Given the description of an element on the screen output the (x, y) to click on. 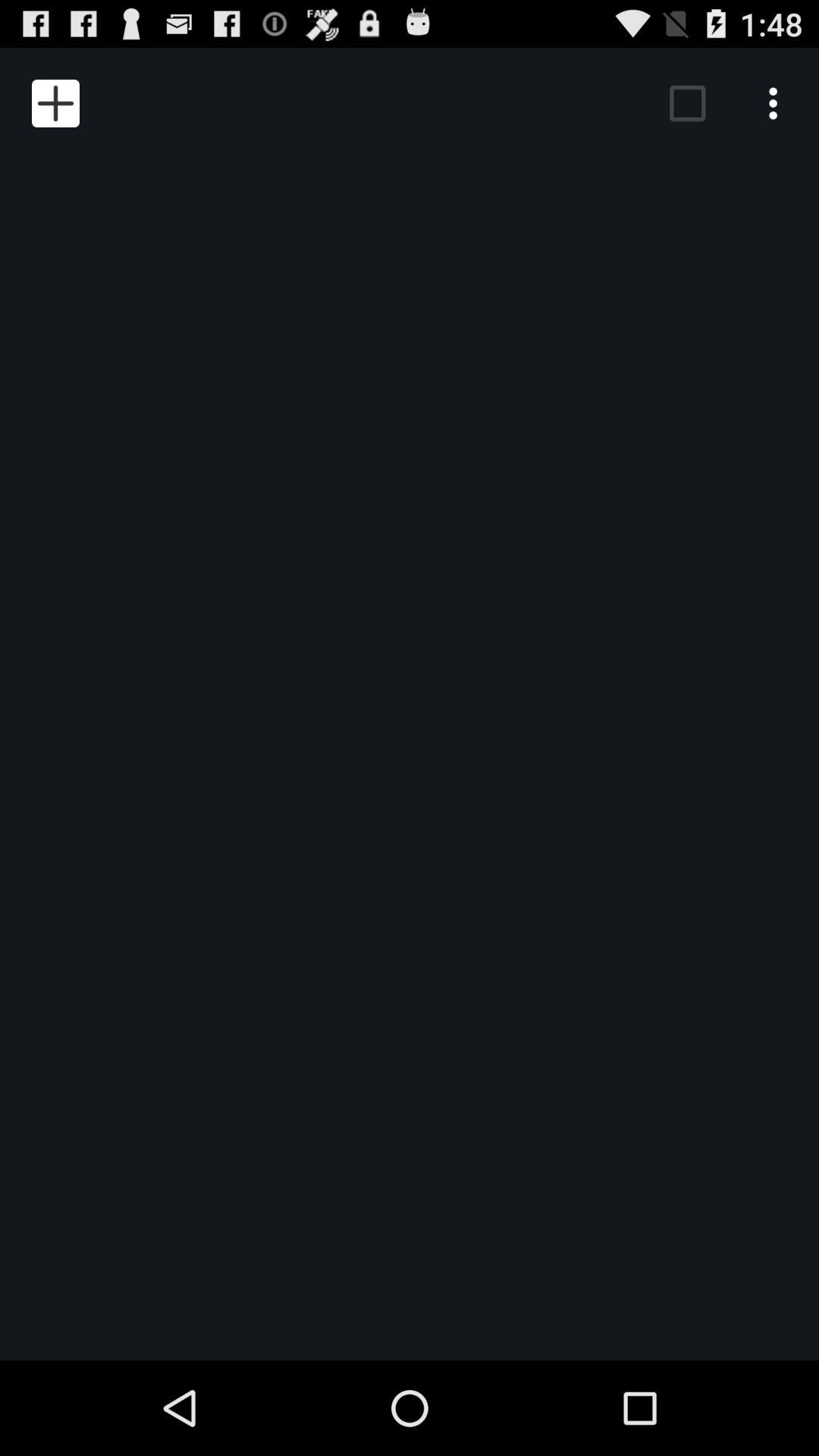
turn off item at the top left corner (55, 103)
